Given the description of an element on the screen output the (x, y) to click on. 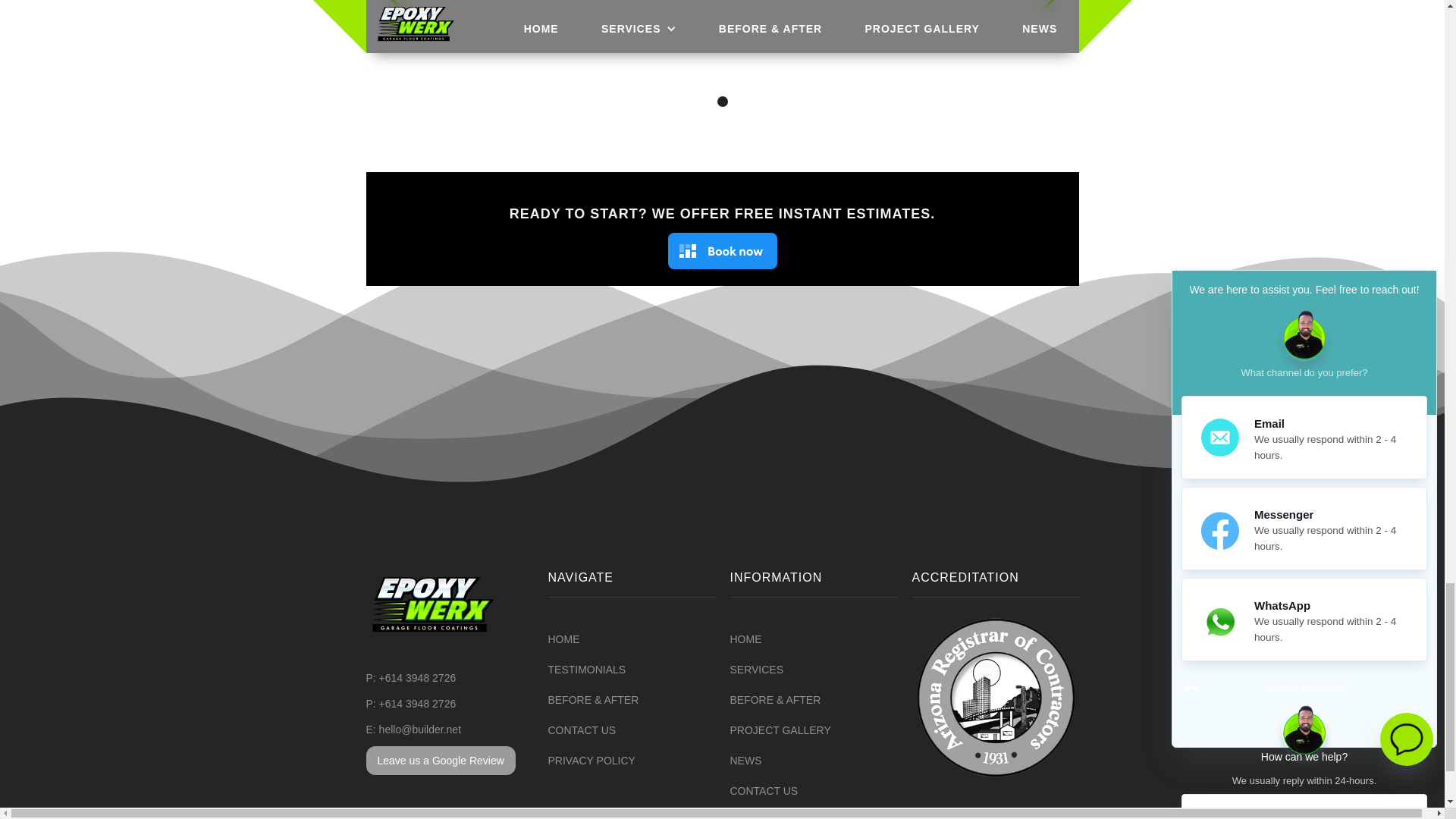
HOME (563, 639)
HOME (745, 639)
TESTIMONIALS (586, 669)
Leave us a Google Review (440, 760)
PRIVACY POLICY (590, 760)
SERVICES (756, 669)
CONTACT US (581, 729)
